Given the description of an element on the screen output the (x, y) to click on. 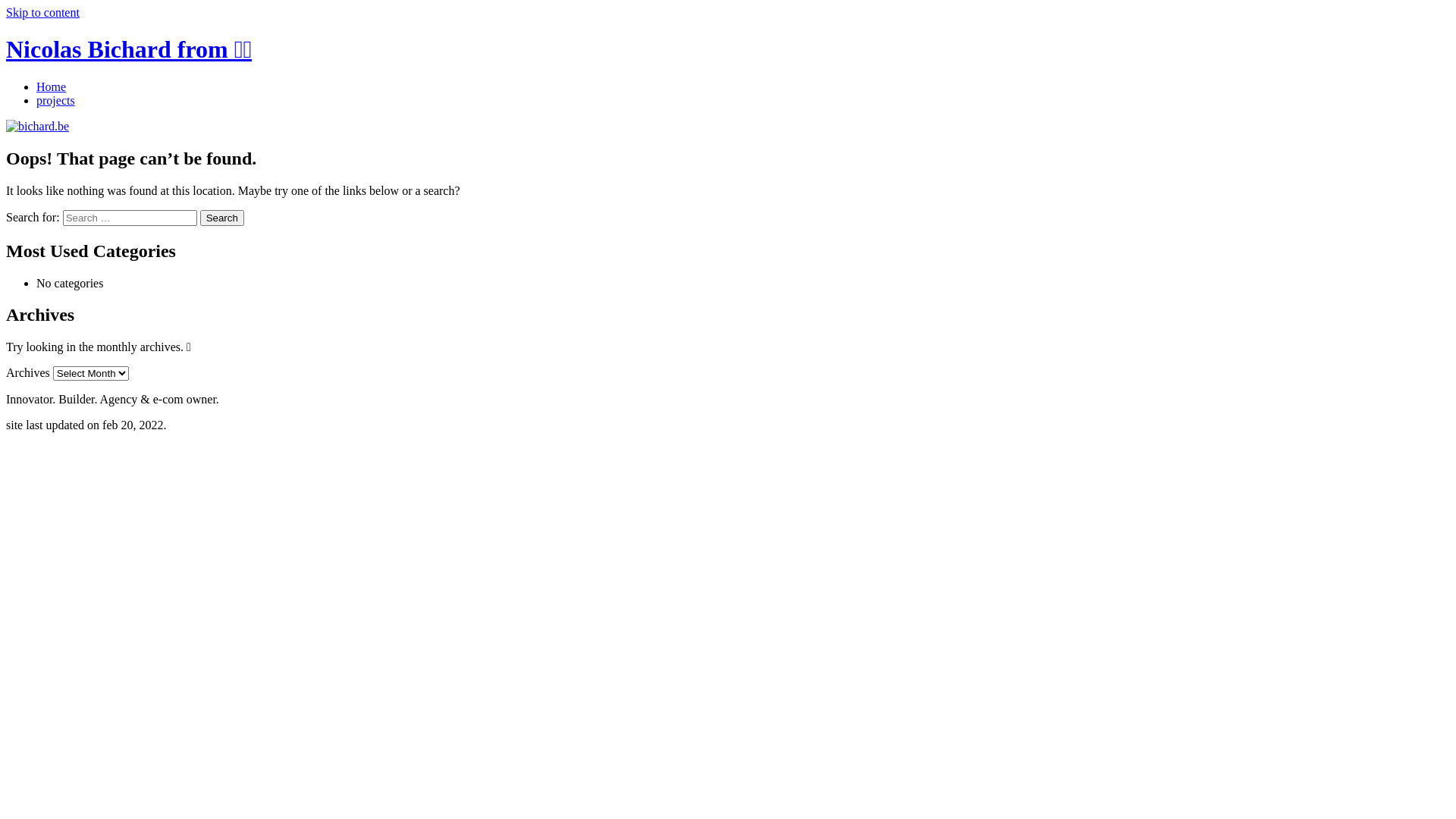
Skip to content Element type: text (42, 12)
Home Element type: text (50, 86)
projects Element type: text (55, 100)
Search Element type: text (222, 217)
